Given the description of an element on the screen output the (x, y) to click on. 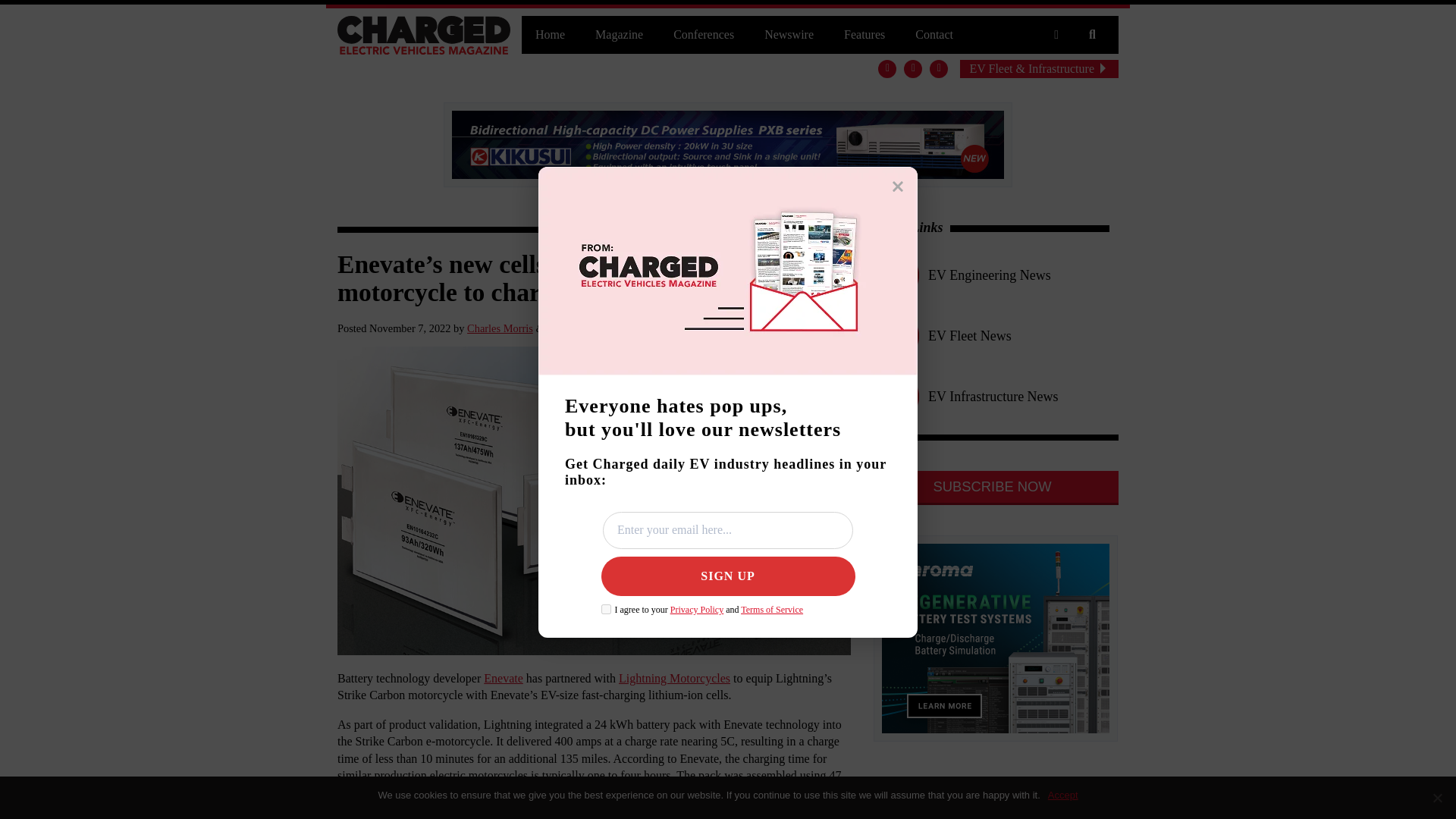
Conferences (703, 34)
on (604, 609)
Features (863, 34)
Newswire (789, 34)
Contact (933, 34)
Home (549, 34)
Posts by Charles Morris (499, 328)
Magazine (618, 34)
Charged EVs (424, 34)
